Given the description of an element on the screen output the (x, y) to click on. 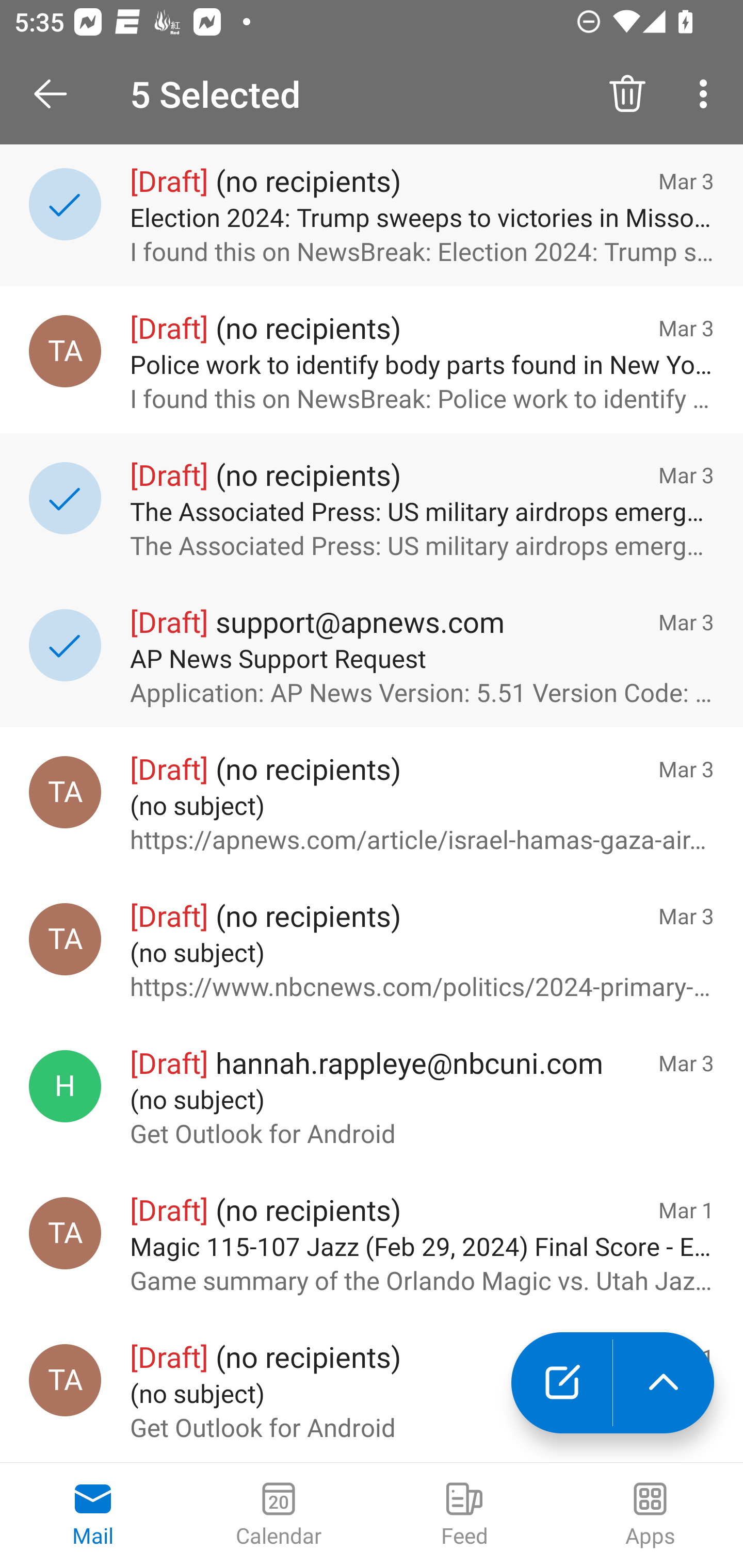
Delete (626, 93)
More options (706, 93)
Open Navigation Drawer (57, 94)
Test Appium, testappium002@outlook.com (64, 351)
Test Appium, testappium002@outlook.com (64, 791)
Test Appium, testappium002@outlook.com (64, 939)
hannah.rappleye@nbcuni.com (64, 1086)
Test Appium, testappium002@outlook.com (64, 1233)
New mail (561, 1382)
launch the extended action menu (663, 1382)
Test Appium, testappium002@outlook.com (64, 1379)
Calendar (278, 1515)
Feed (464, 1515)
Apps (650, 1515)
